Given the description of an element on the screen output the (x, y) to click on. 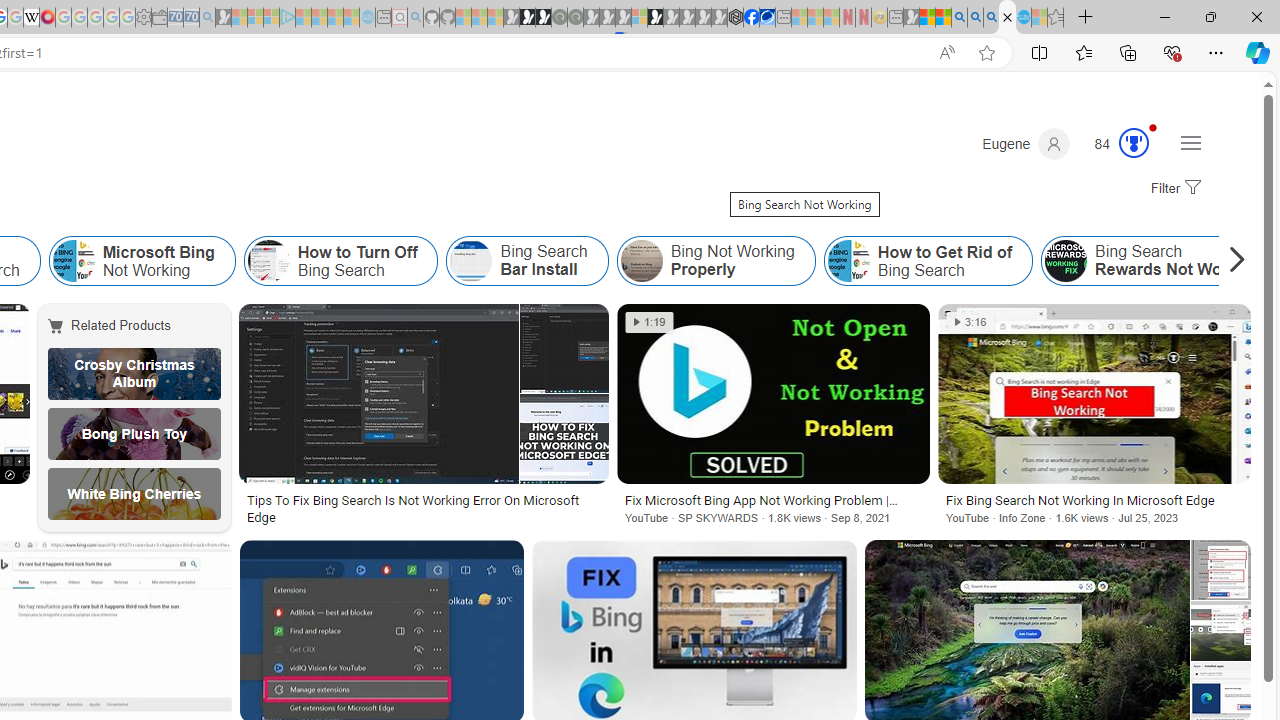
Eugene (1026, 143)
2009 Bing officially replaced Live Search on June 3 - Search (975, 17)
Bong Plush Toy (134, 434)
Microsoft Bing Not Working (73, 260)
Image result for Bing Search Not Working (1094, 393)
Nordace | Facebook (751, 17)
